Given the description of an element on the screen output the (x, y) to click on. 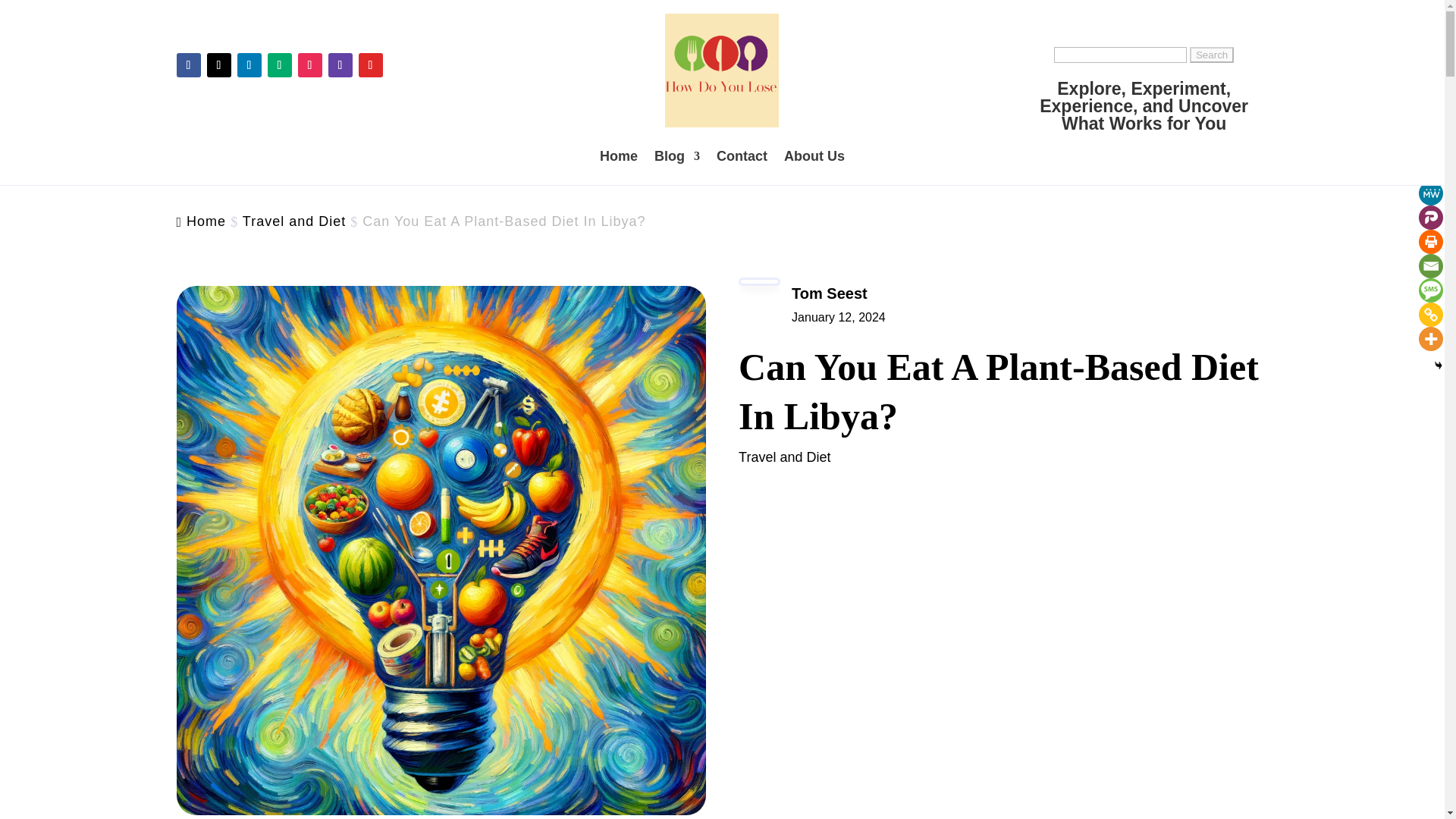
Travel and Diet (783, 457)
Home (205, 221)
Follow on Medium (278, 64)
Search (1211, 54)
Follow on FlipBoard (369, 64)
Follow on LinkedIn (247, 64)
Home (618, 156)
About Us (814, 156)
Follow on Facebook (188, 64)
Contact (741, 156)
Follow on X (218, 64)
Follow on Twitch (339, 64)
Follow on Instagram (309, 64)
Blog (676, 156)
